Given the description of an element on the screen output the (x, y) to click on. 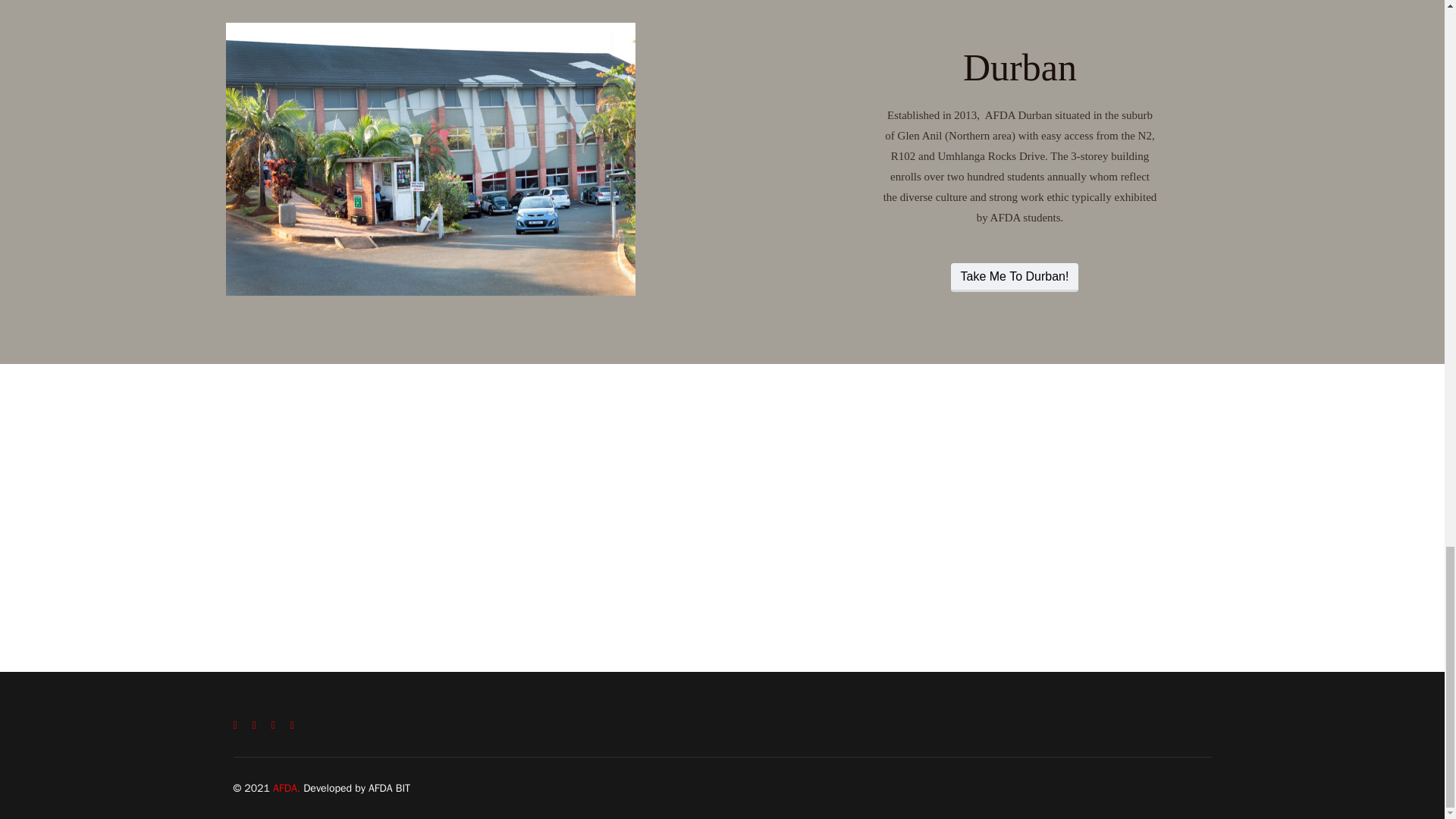
Take Me To Durban! (1014, 276)
AFDA. (287, 788)
